Given the description of an element on the screen output the (x, y) to click on. 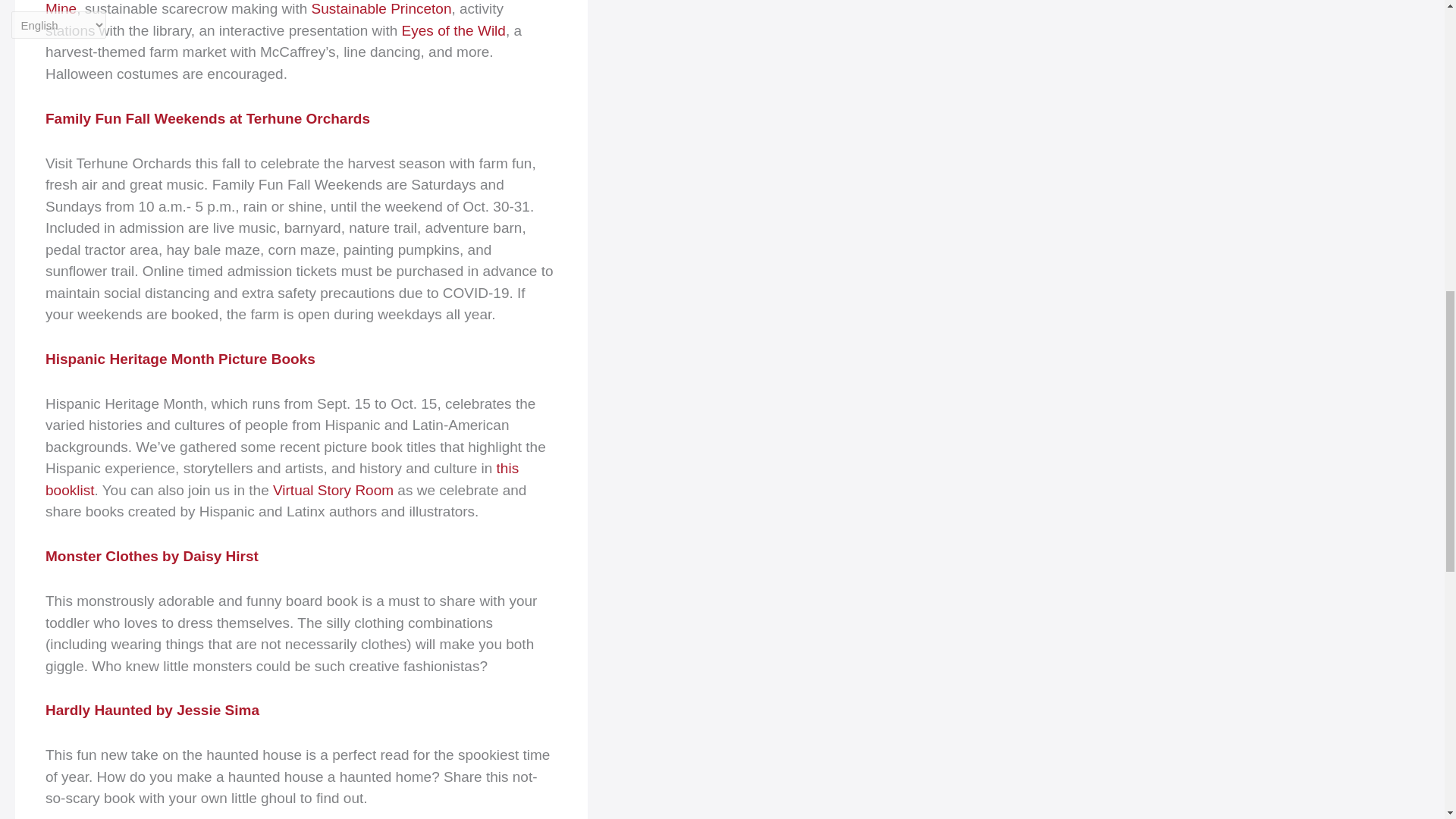
Hispanic Heritage Month Picture Books (180, 358)
Virtual Story Room (333, 489)
Monster Clothes by Daisy Hirst (152, 555)
Family Fun Fall Weekends at Terhune Orchards (207, 118)
Sustainable Princeton (381, 8)
this booklist (281, 478)
Hardly Haunted by Jessie Sima (152, 709)
Color Me Mine (288, 8)
Eyes of the Wild (453, 30)
